Given the description of an element on the screen output the (x, y) to click on. 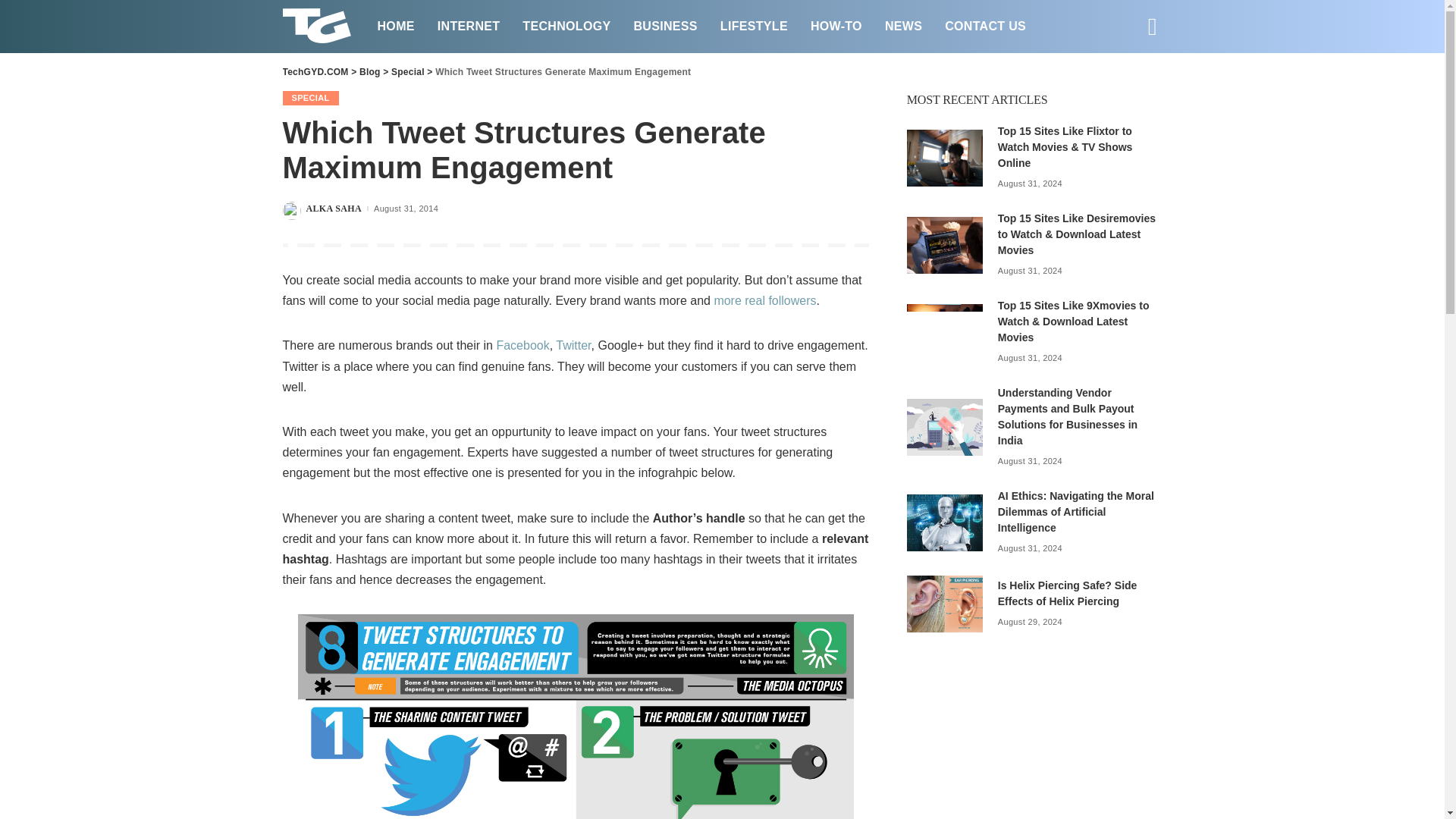
INTERNET (469, 26)
HOME (395, 26)
TECHNOLOGY (566, 26)
Go to the Special Category archives. (408, 71)
Go to TechGYD.COM. (314, 71)
TechGYD.COM (317, 26)
Go to Blog. (369, 71)
